Given the description of an element on the screen output the (x, y) to click on. 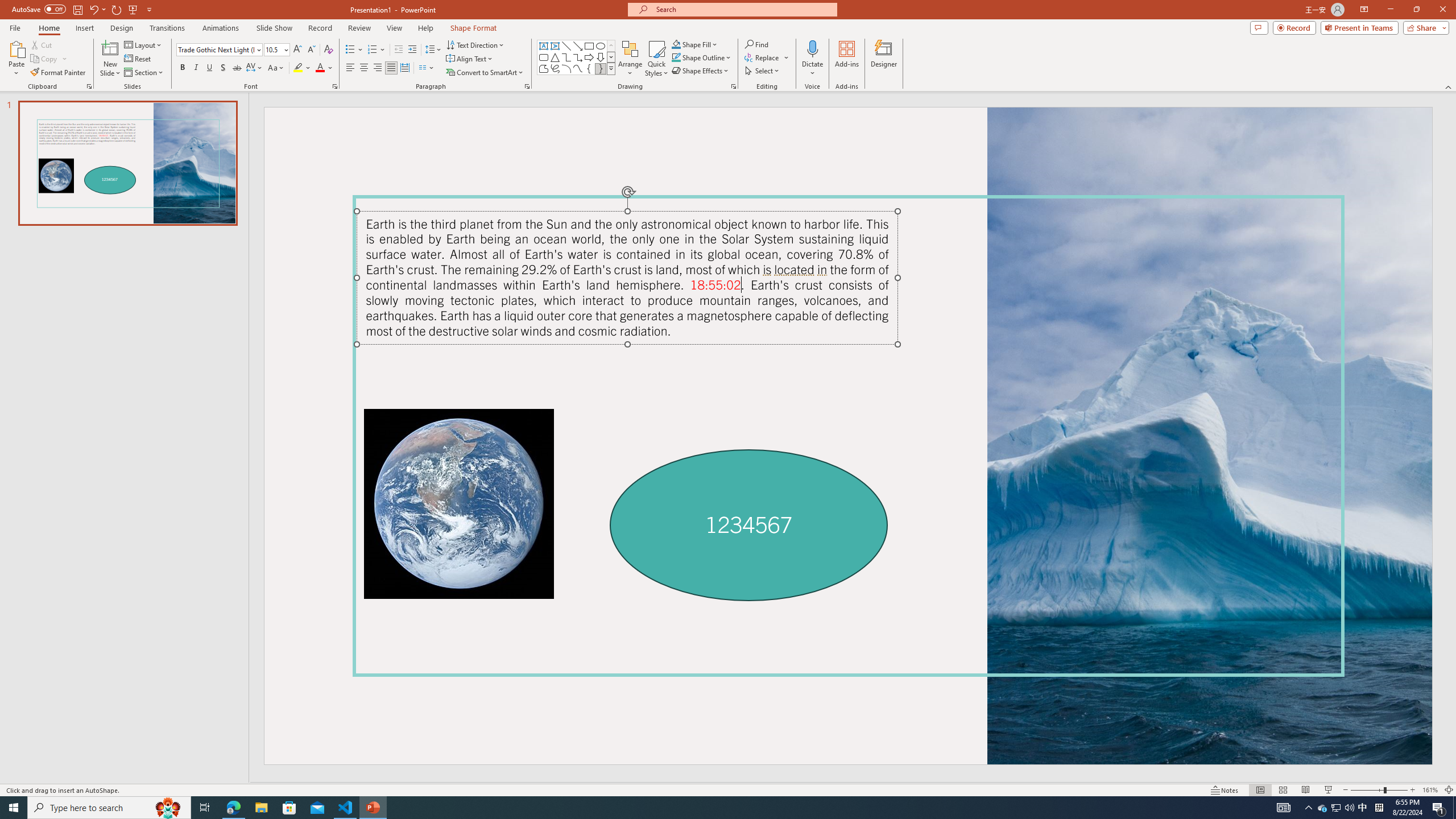
Align Text (470, 58)
Select (762, 69)
Quick Styles (656, 58)
Shapes (611, 68)
Shadow (223, 67)
